Given the description of an element on the screen output the (x, y) to click on. 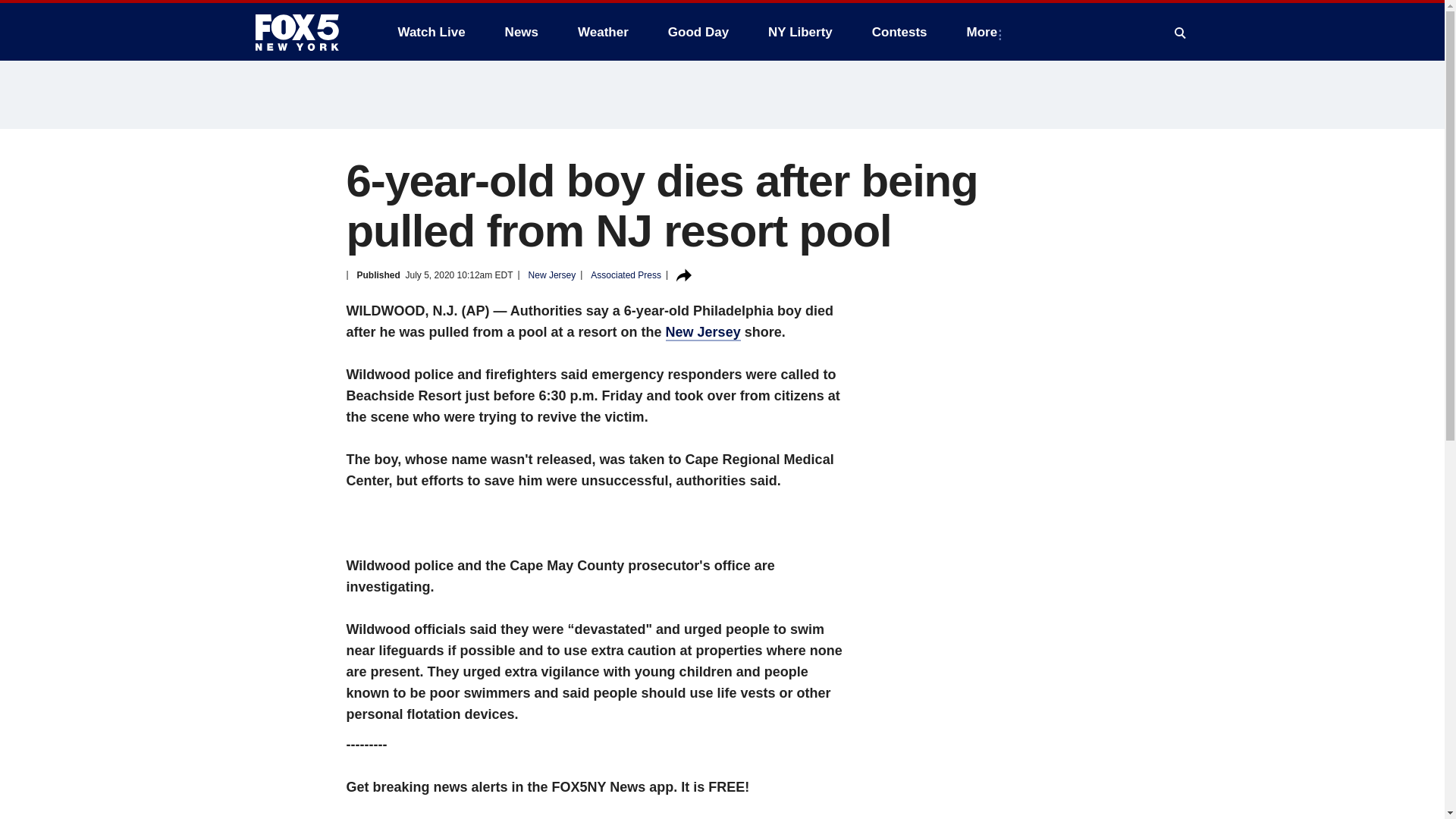
Contests (899, 32)
Watch Live (431, 32)
News (521, 32)
Good Day (698, 32)
NY Liberty (799, 32)
More (985, 32)
Weather (603, 32)
